Given the description of an element on the screen output the (x, y) to click on. 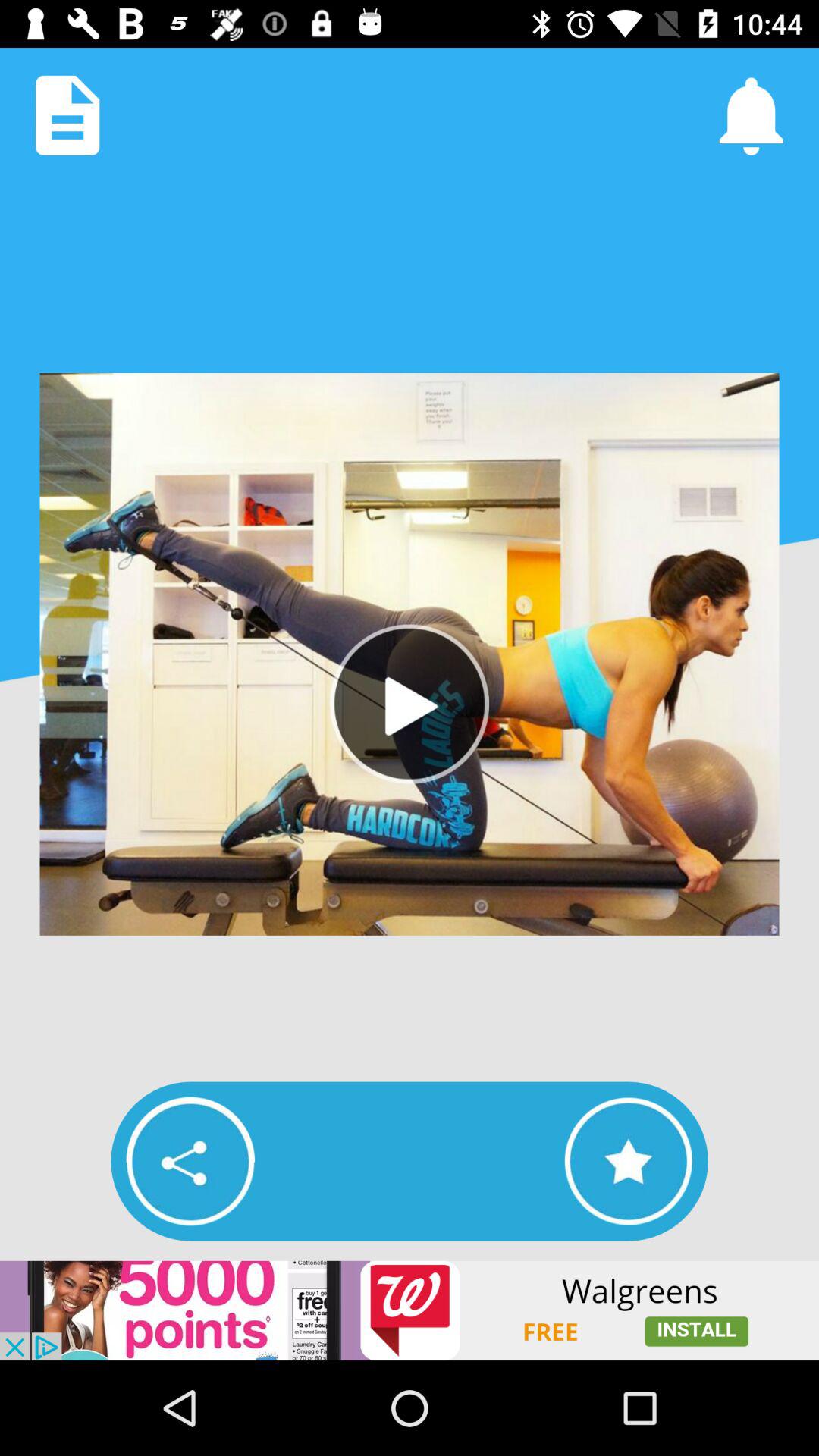
favourite (628, 1161)
